Given the description of an element on the screen output the (x, y) to click on. 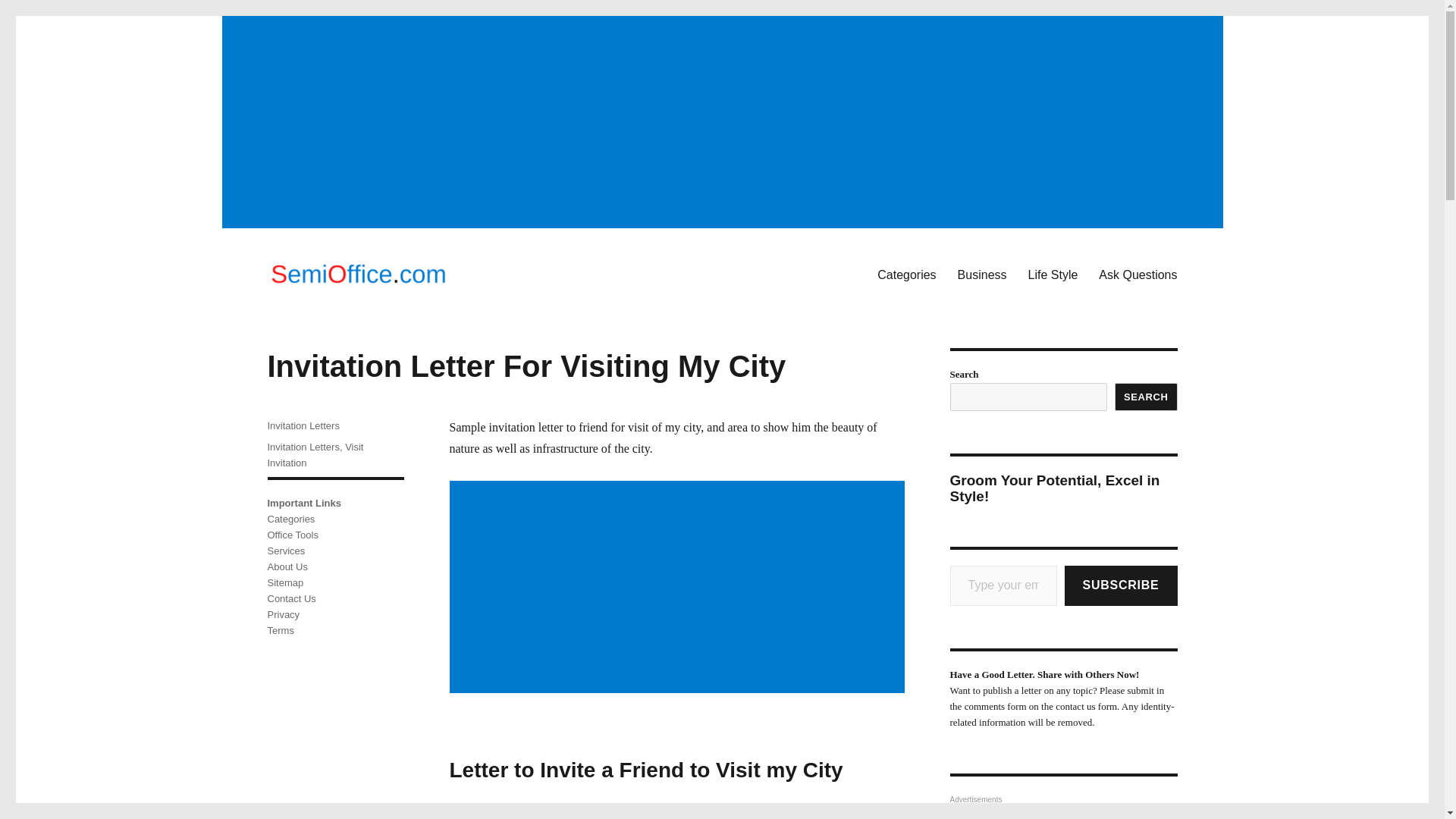
Visit Invitation (314, 454)
Privacy (282, 614)
Categories (290, 518)
SUBSCRIBE (1120, 585)
Invitation Letters (302, 446)
Life Style (1053, 274)
Contact Us (290, 598)
SemiOffice.Com (348, 310)
Categories (906, 274)
Ask Questions (1137, 274)
